Given the description of an element on the screen output the (x, y) to click on. 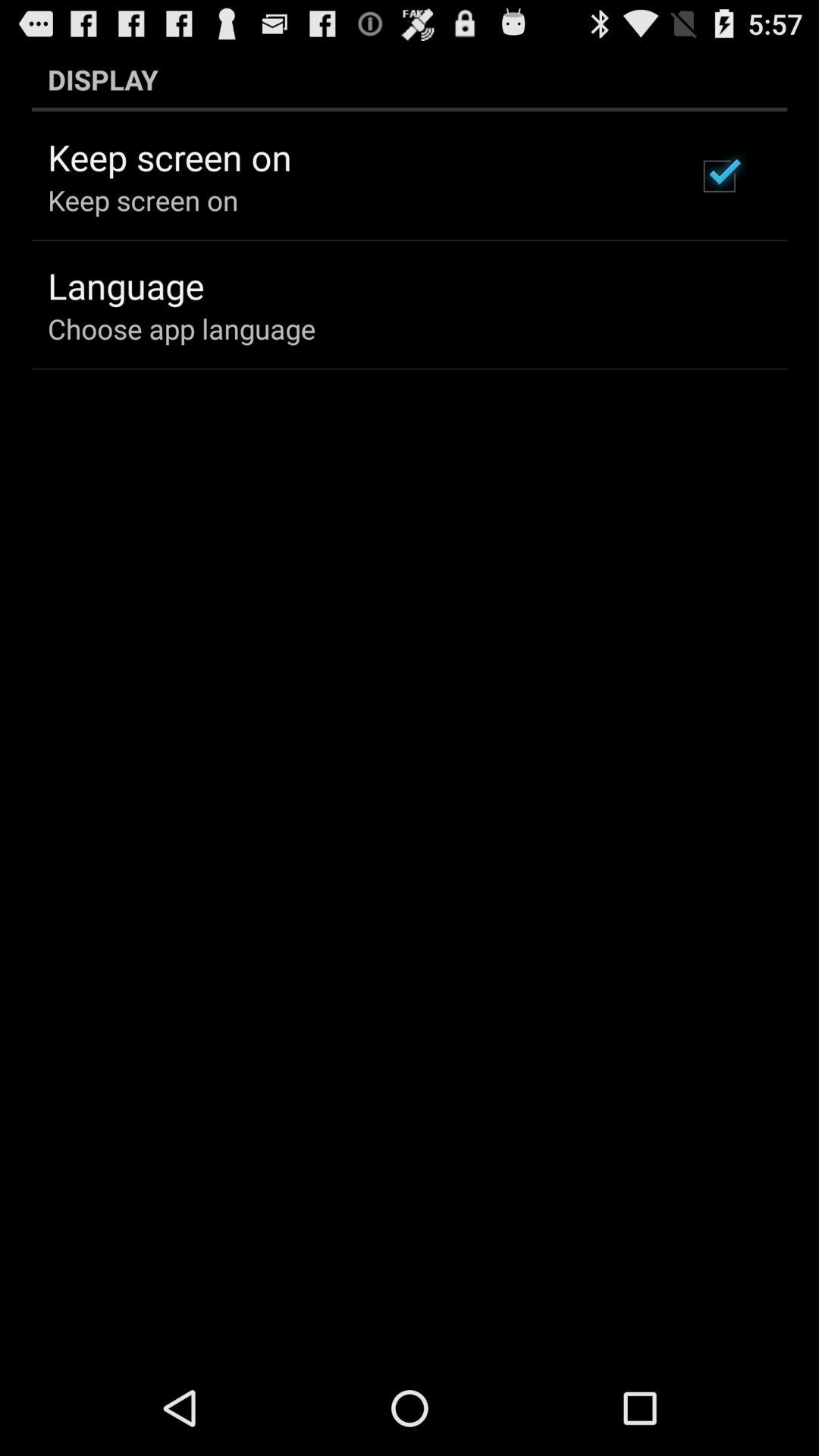
open the item below the display (719, 176)
